Given the description of an element on the screen output the (x, y) to click on. 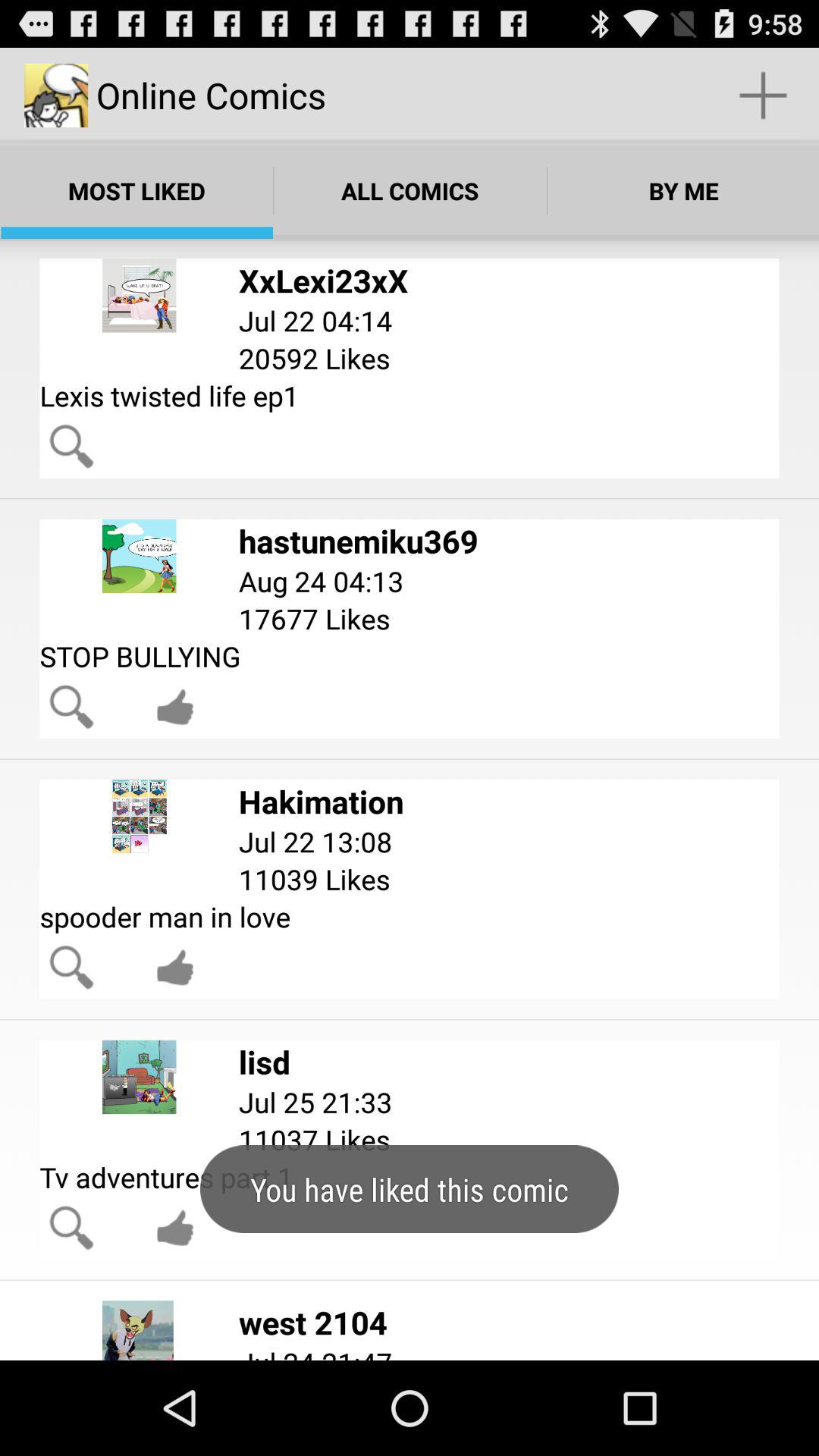
a like button (175, 706)
